Given the description of an element on the screen output the (x, y) to click on. 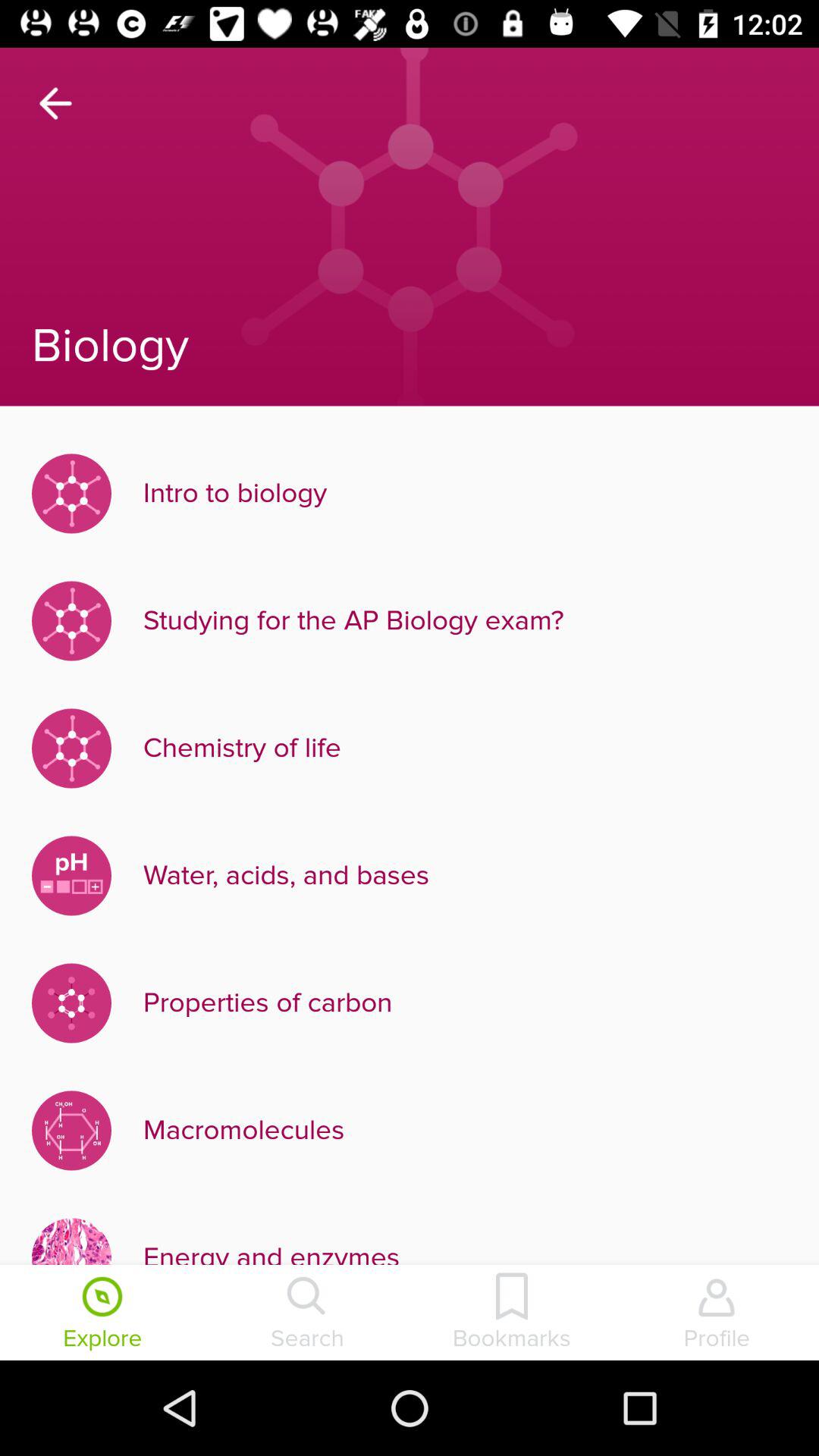
open item below the energy and enzymes (511, 1314)
